Given the description of an element on the screen output the (x, y) to click on. 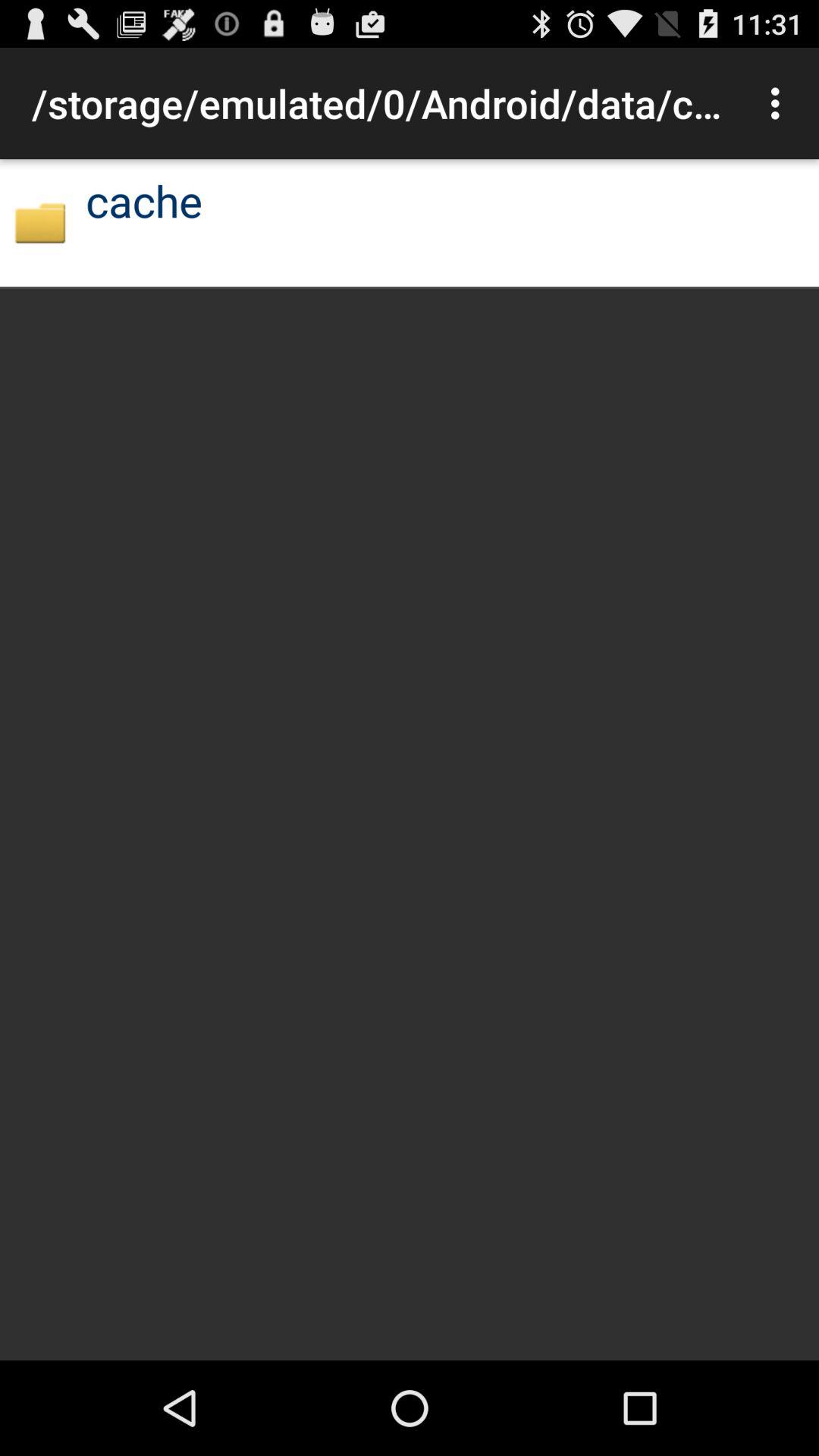
press icon to the right of storage emulated 0 item (779, 103)
